Given the description of an element on the screen output the (x, y) to click on. 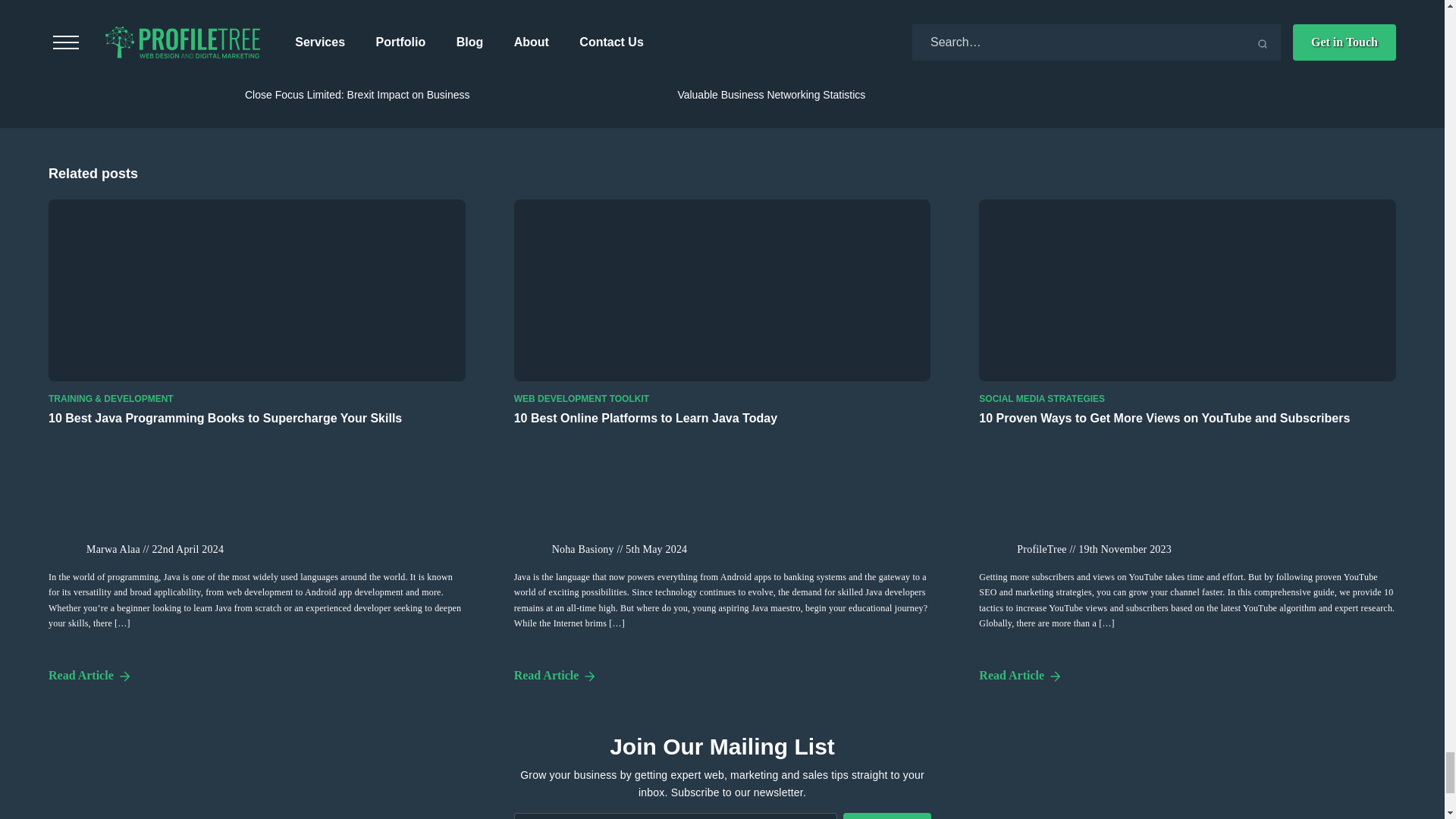
Post Comment (313, 3)
Subscribe (887, 816)
